Given the description of an element on the screen output the (x, y) to click on. 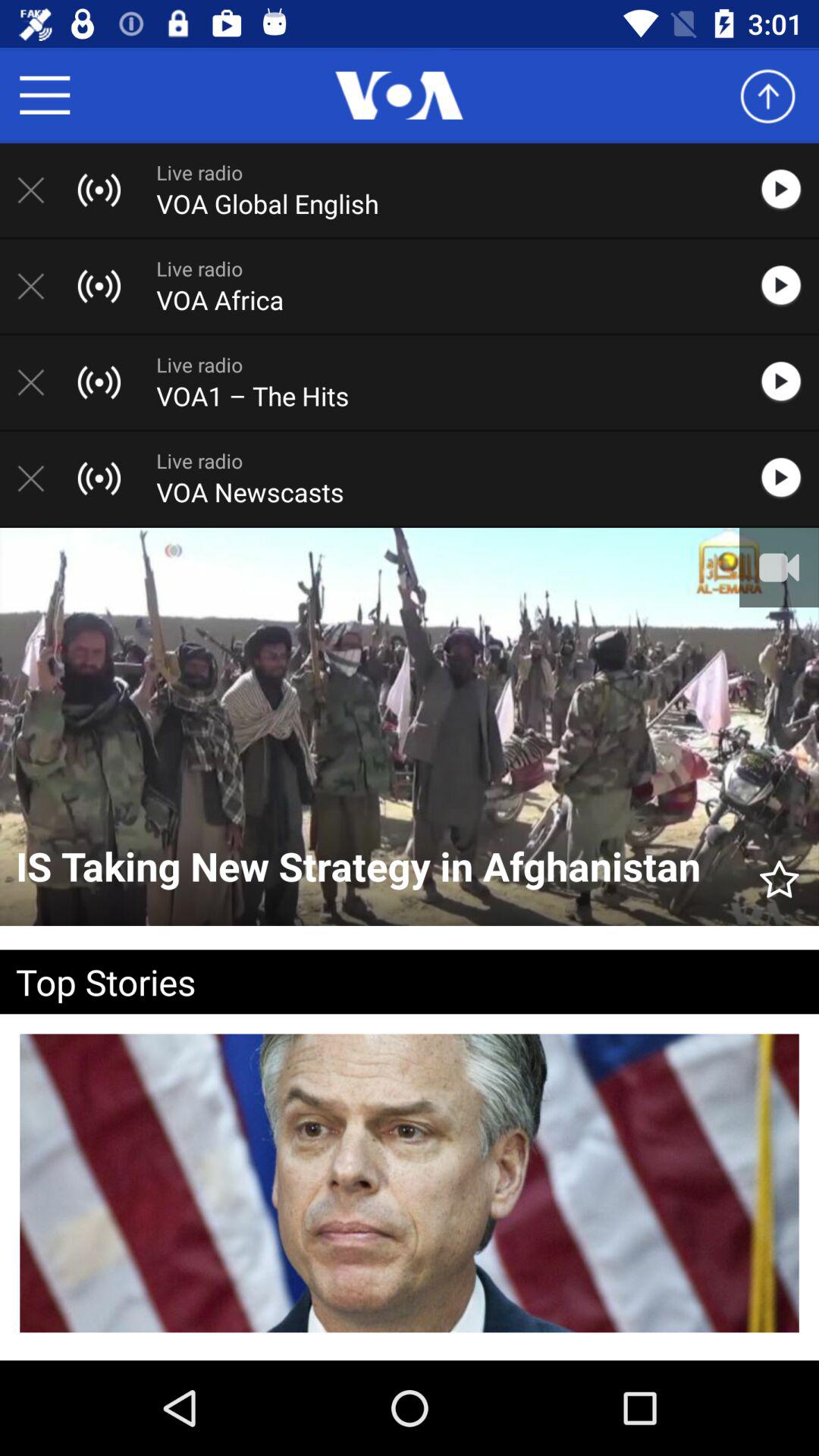
turn off icon above top stories icon (377, 867)
